Given the description of an element on the screen output the (x, y) to click on. 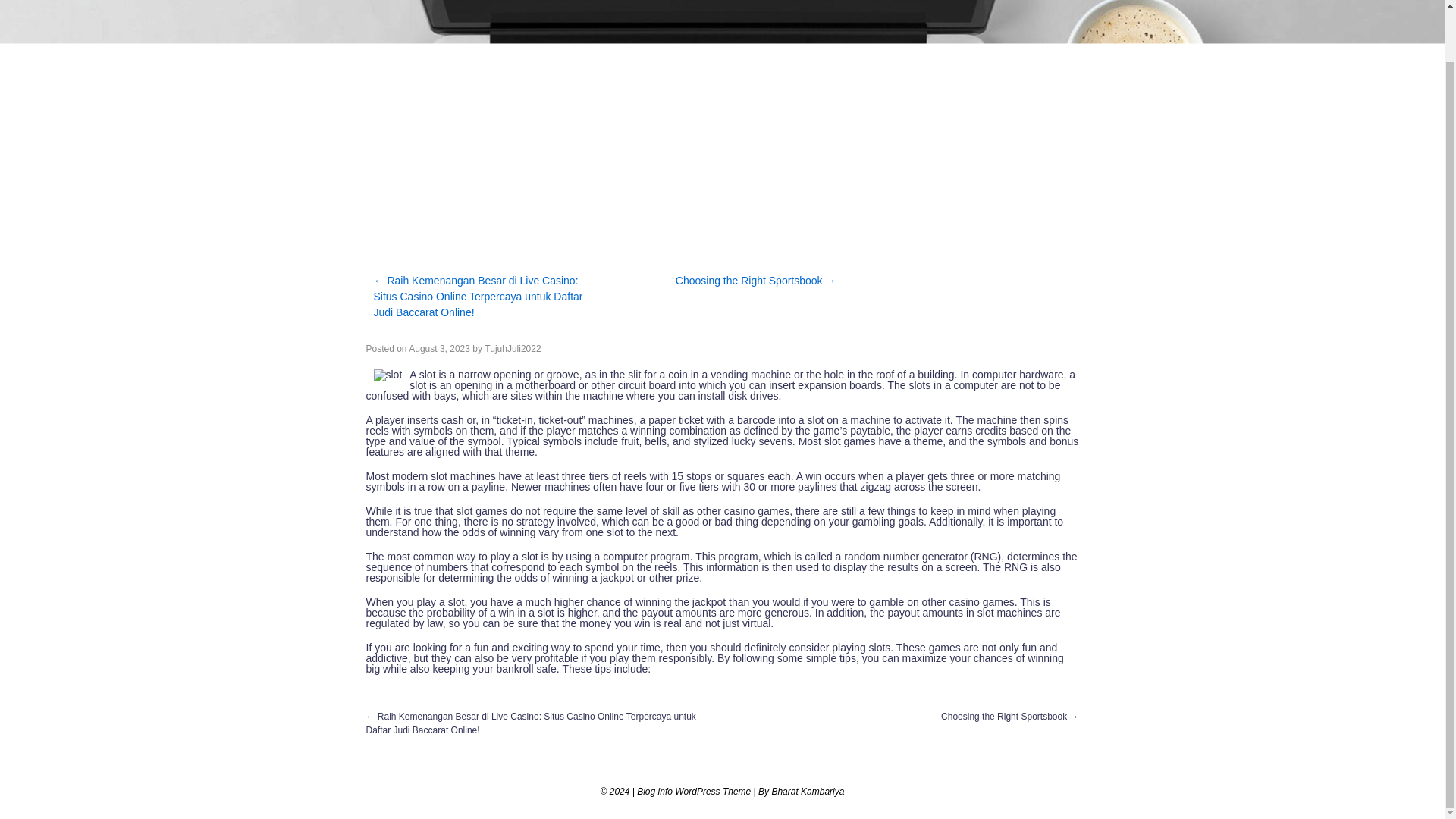
1:06 pm (439, 348)
TujuhJuli2022 (512, 348)
View all posts by TujuhJuli2022 (512, 348)
August 3, 2023 (439, 348)
